Given the description of an element on the screen output the (x, y) to click on. 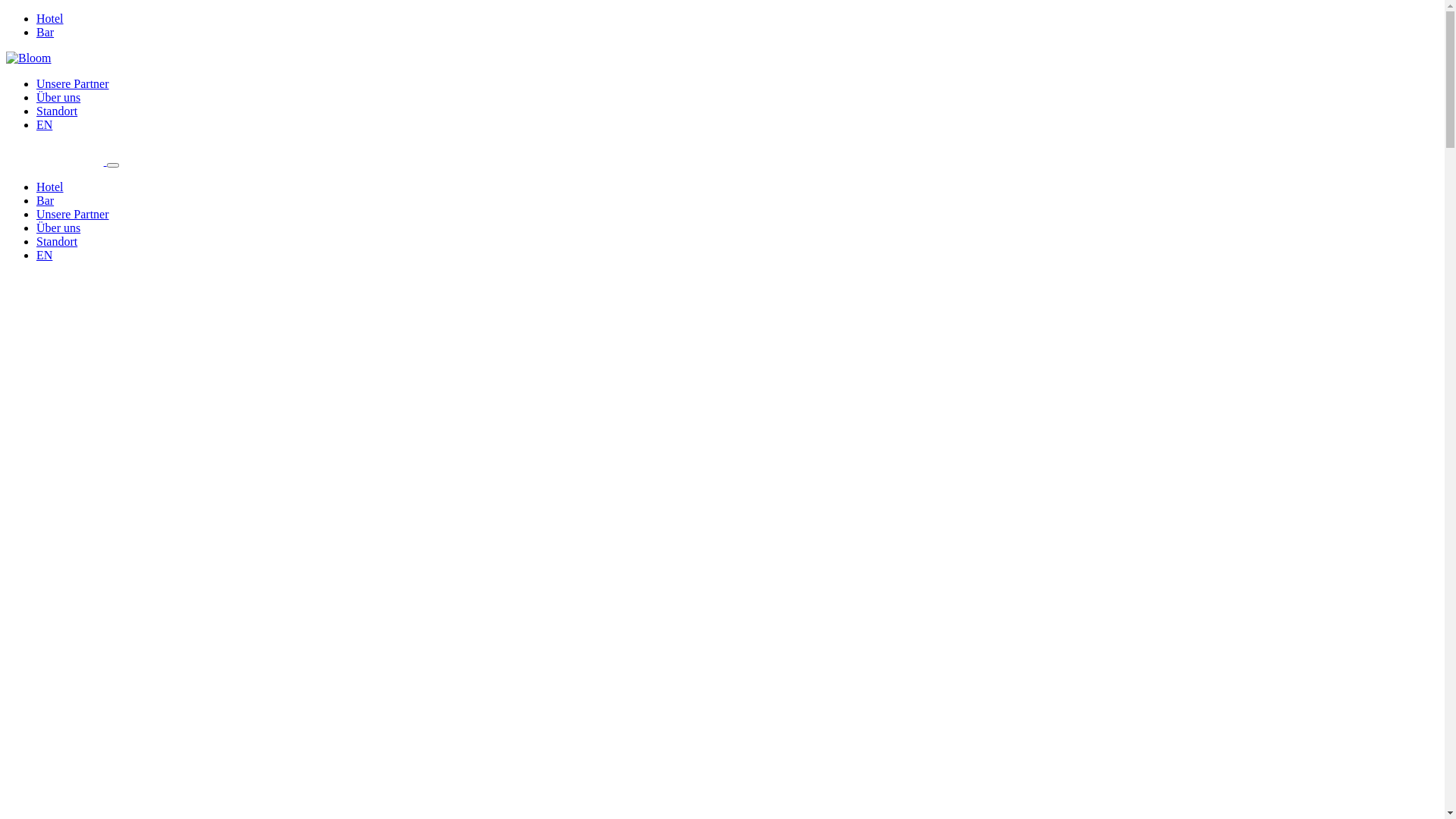
Standort Element type: text (56, 241)
Bar Element type: text (44, 31)
Unsere Partner Element type: text (72, 83)
Bar Element type: text (44, 200)
Hotel Element type: text (49, 186)
EN Element type: text (44, 124)
Hotel Element type: text (49, 18)
Standort Element type: text (56, 110)
Unsere Partner Element type: text (72, 213)
EN Element type: text (44, 254)
